Given the description of an element on the screen output the (x, y) to click on. 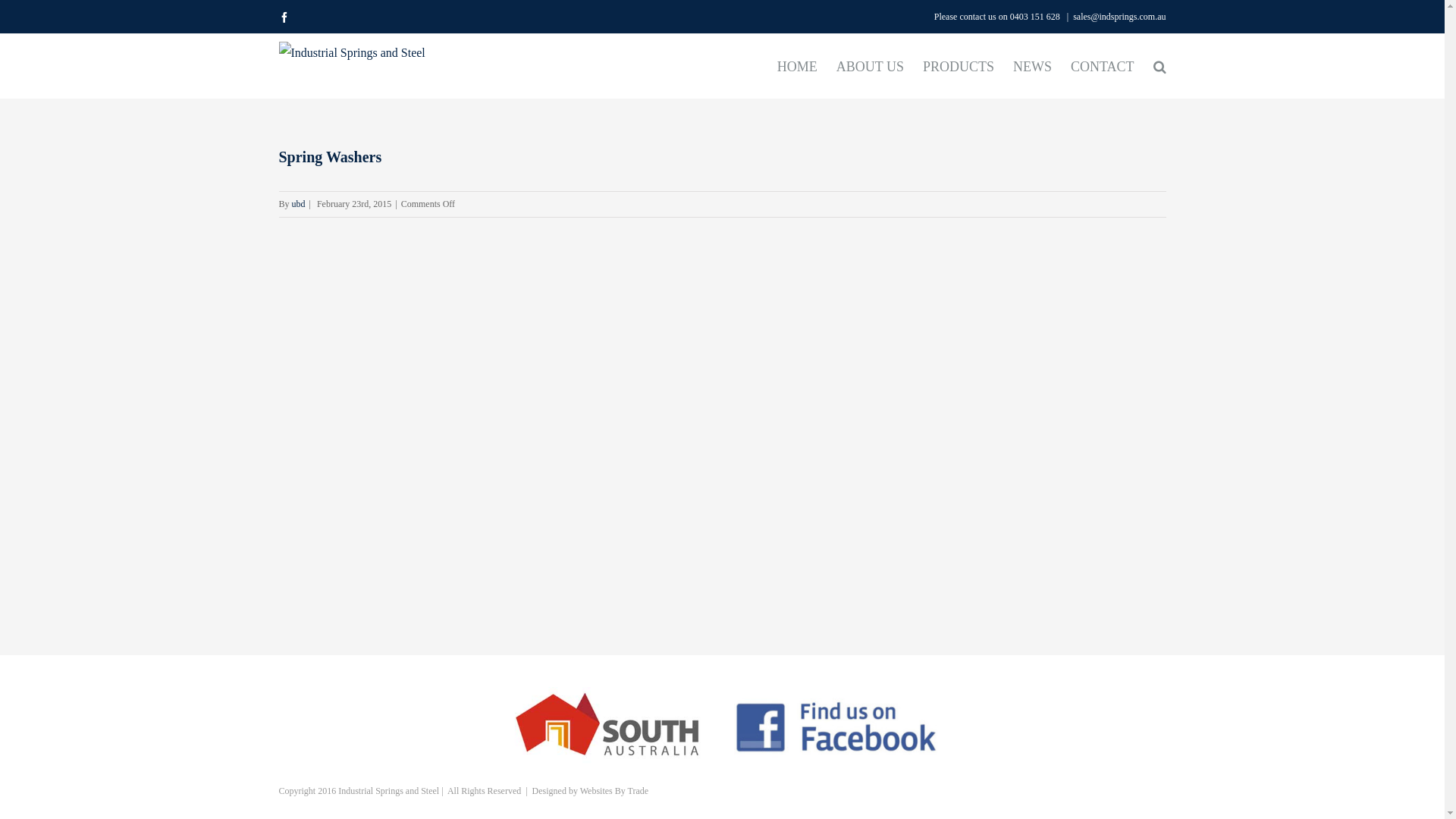
NEWS Element type: text (1032, 66)
ubd Element type: text (298, 203)
Facebook Element type: text (284, 17)
ABOUT US Element type: text (869, 66)
HOME Element type: text (797, 66)
Websites By Trade Element type: text (614, 790)
PRODUCTS Element type: text (958, 66)
sales@indsprings.com.au Element type: text (1119, 16)
CONTACT Element type: text (1102, 66)
